Given the description of an element on the screen output the (x, y) to click on. 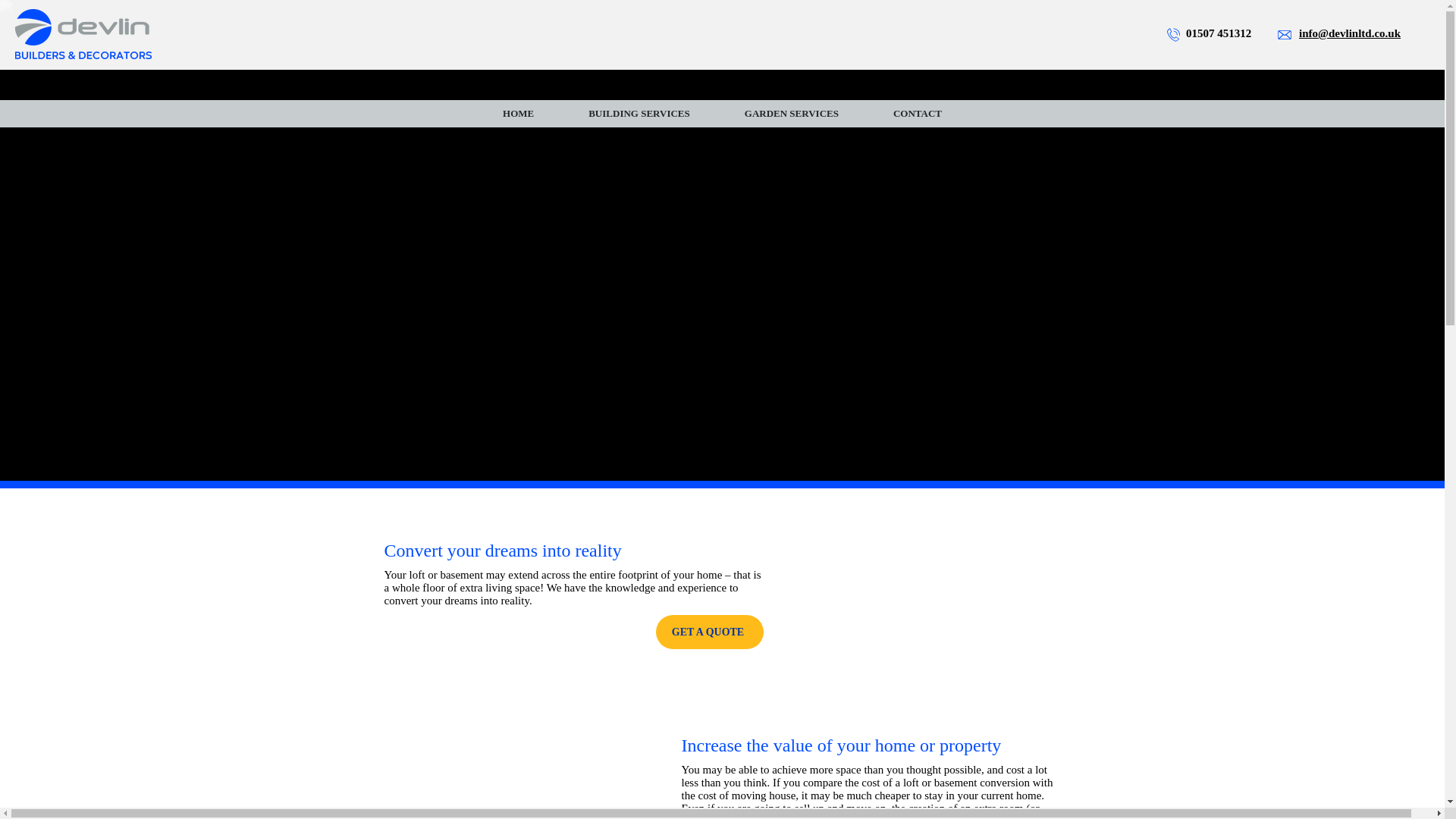
HOME (517, 113)
CONTACT (917, 113)
GET A QUOTE (708, 632)
